Given the description of an element on the screen output the (x, y) to click on. 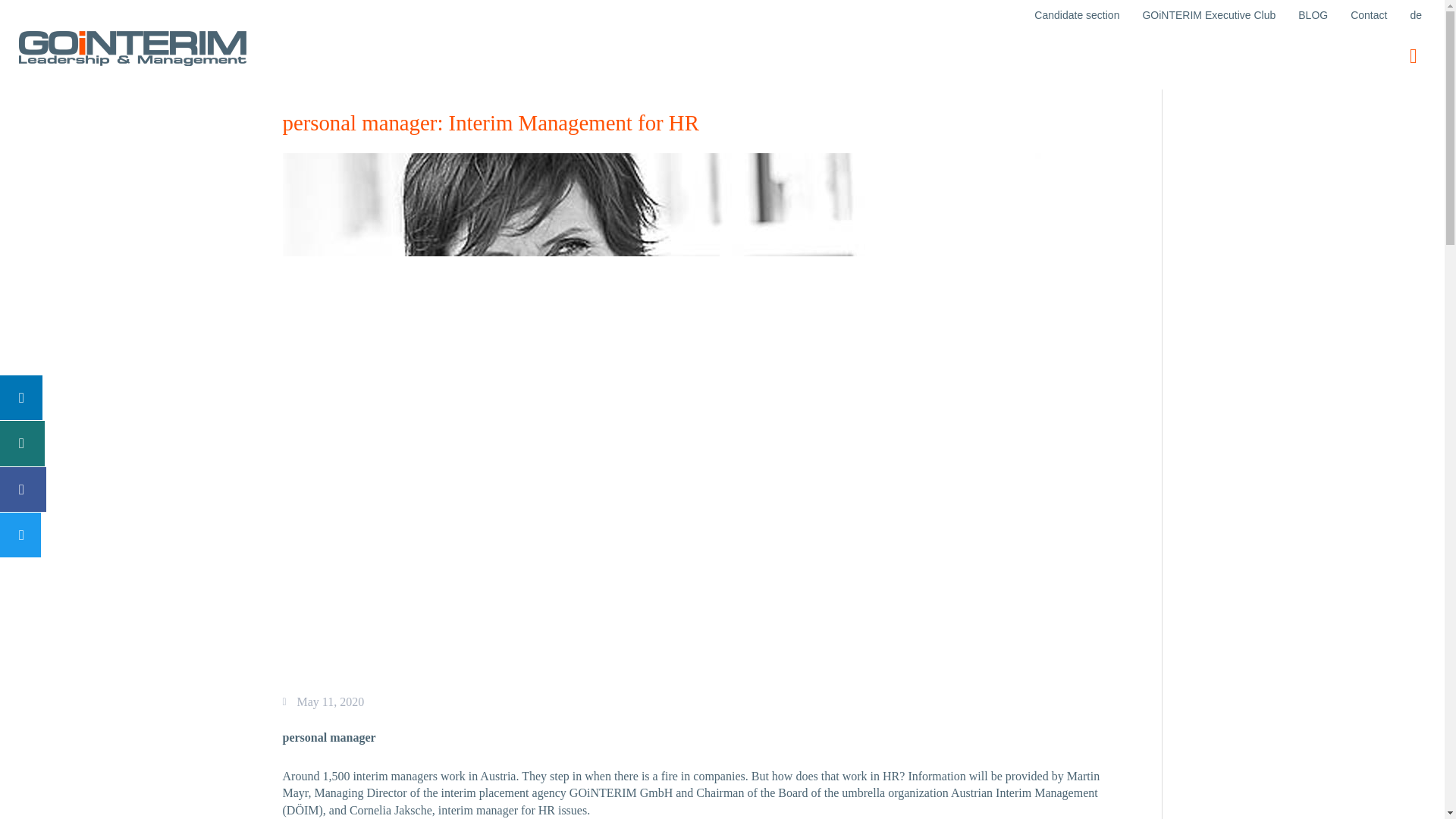
BLOG (1313, 15)
de (1414, 15)
de (1414, 15)
Candidate section (1077, 15)
GOiNTERIM Executive Club (1209, 15)
Contact (1368, 15)
